Given the description of an element on the screen output the (x, y) to click on. 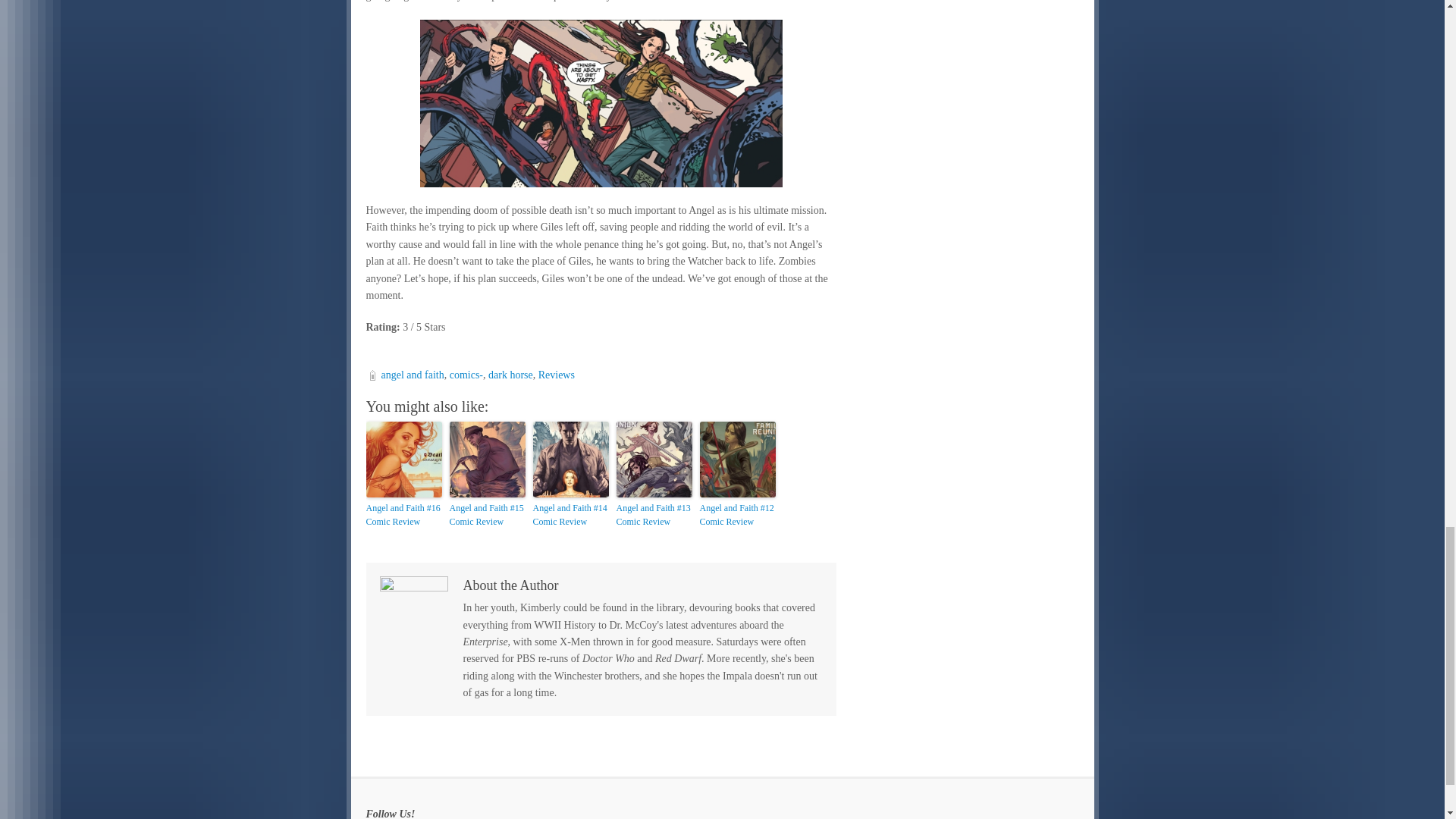
angel and faith (412, 374)
Reviews (556, 374)
dark horse (509, 374)
comics- (466, 374)
